Given the description of an element on the screen output the (x, y) to click on. 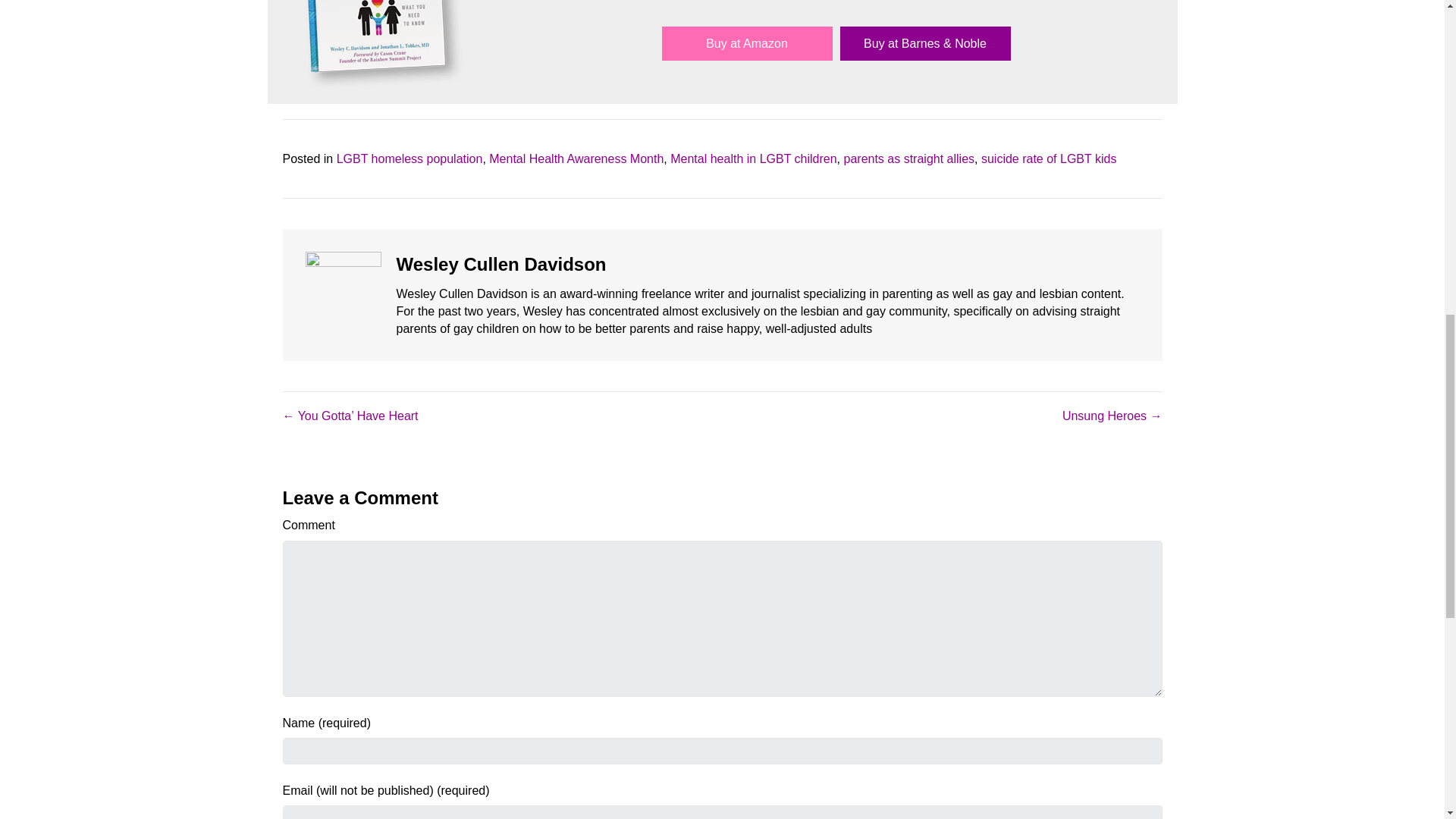
parents as straight allies (908, 158)
Mental health in LGBT children (752, 158)
suicide rate of LGBT kids (1048, 158)
Mental Health Awareness Month (576, 158)
LGBT homeless population (409, 158)
wesleycover (380, 44)
Buy at Amazon (746, 42)
